Given the description of an element on the screen output the (x, y) to click on. 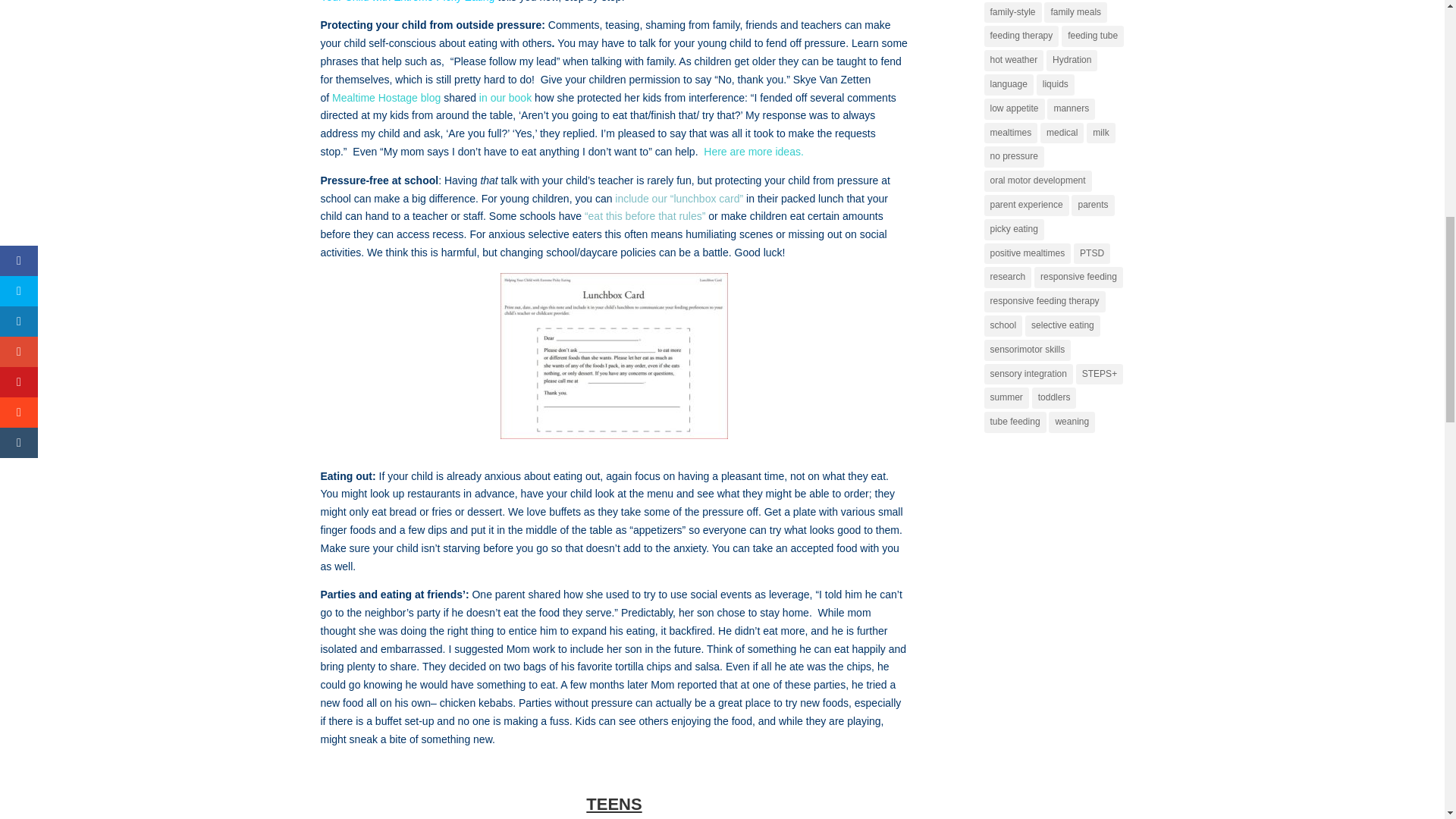
Here are more ideas. (753, 151)
Mealtime Hostage blog  (387, 97)
in our book  (506, 97)
